Given the description of an element on the screen output the (x, y) to click on. 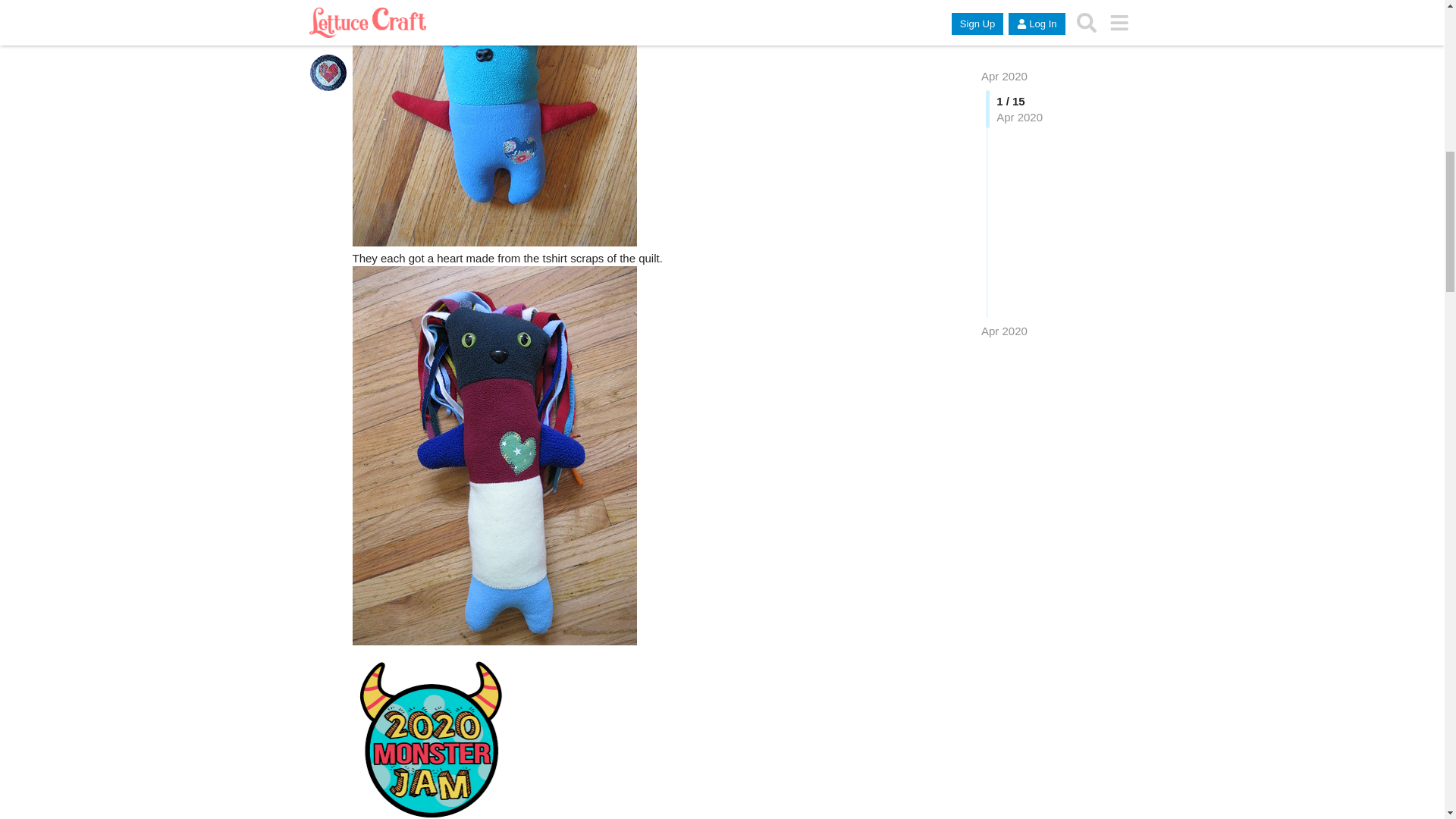
10 (494, 123)
